Given the description of an element on the screen output the (x, y) to click on. 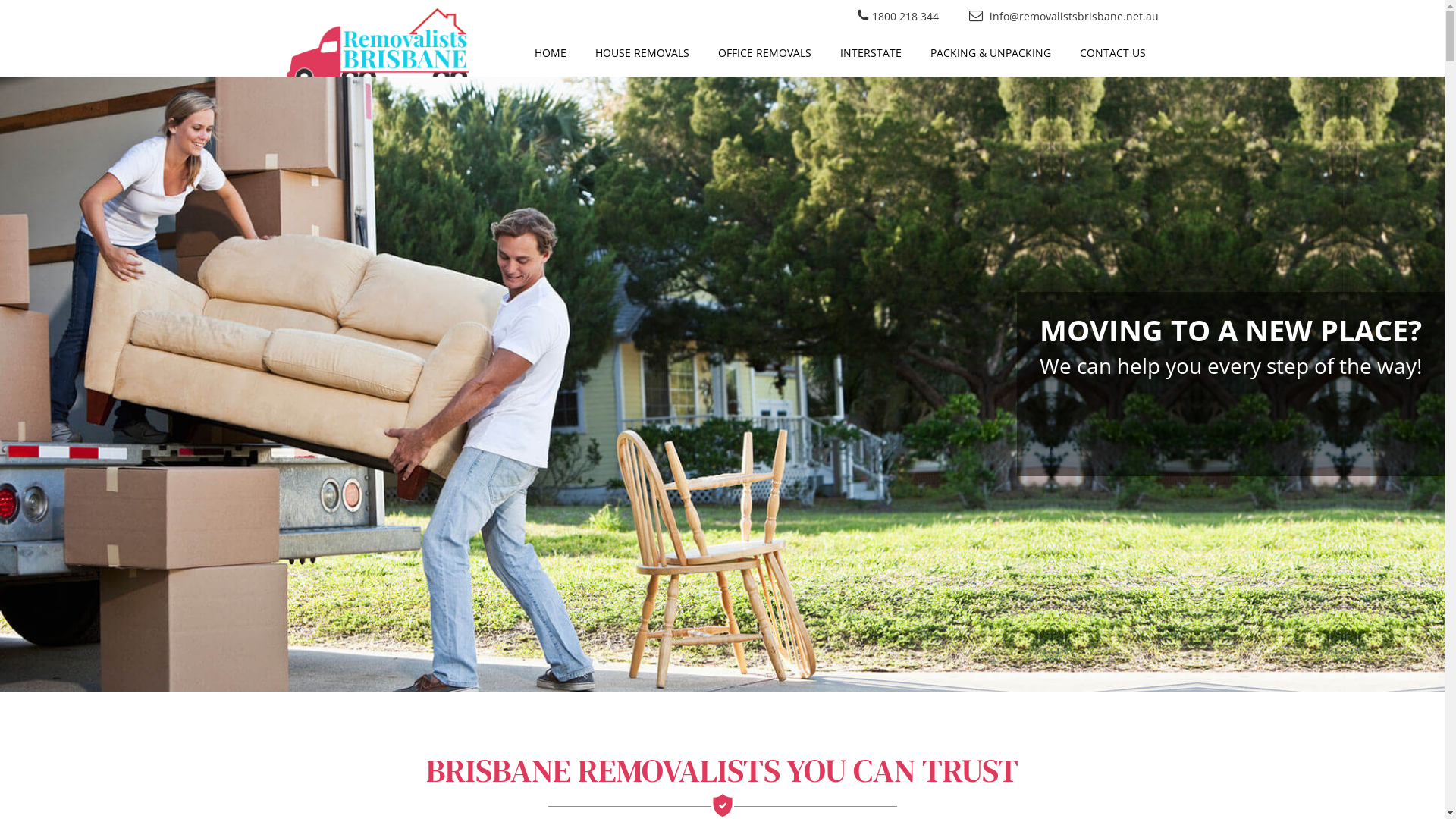
PACKING & UNPACKING Element type: text (990, 54)
removalists brisbane Element type: hover (722, 383)
INTERSTATE Element type: text (869, 54)
HOUSE REMOVALS Element type: text (642, 54)
HOME Element type: text (550, 54)
OFFICE REMOVALS Element type: text (764, 54)
CONTACT US Element type: text (1111, 54)
1800 218 344 Element type: text (905, 16)
info@removalistsbrisbane.net.au Element type: text (1072, 16)
